Given the description of an element on the screen output the (x, y) to click on. 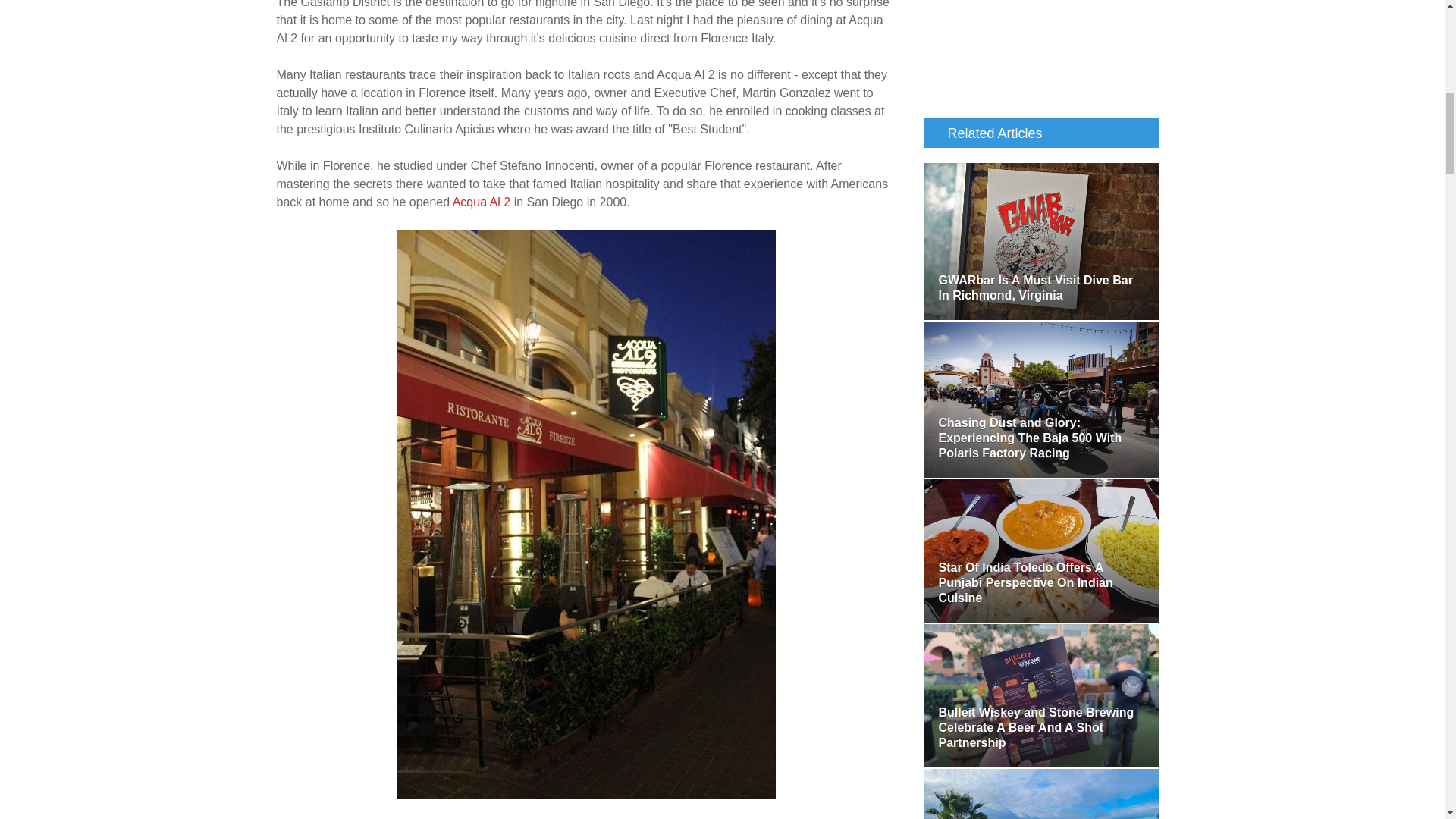
Acqua Al 2 (480, 201)
GWARbar Is A Must Visit Dive Bar In Richmond, Virginia (1040, 241)
